Given the description of an element on the screen output the (x, y) to click on. 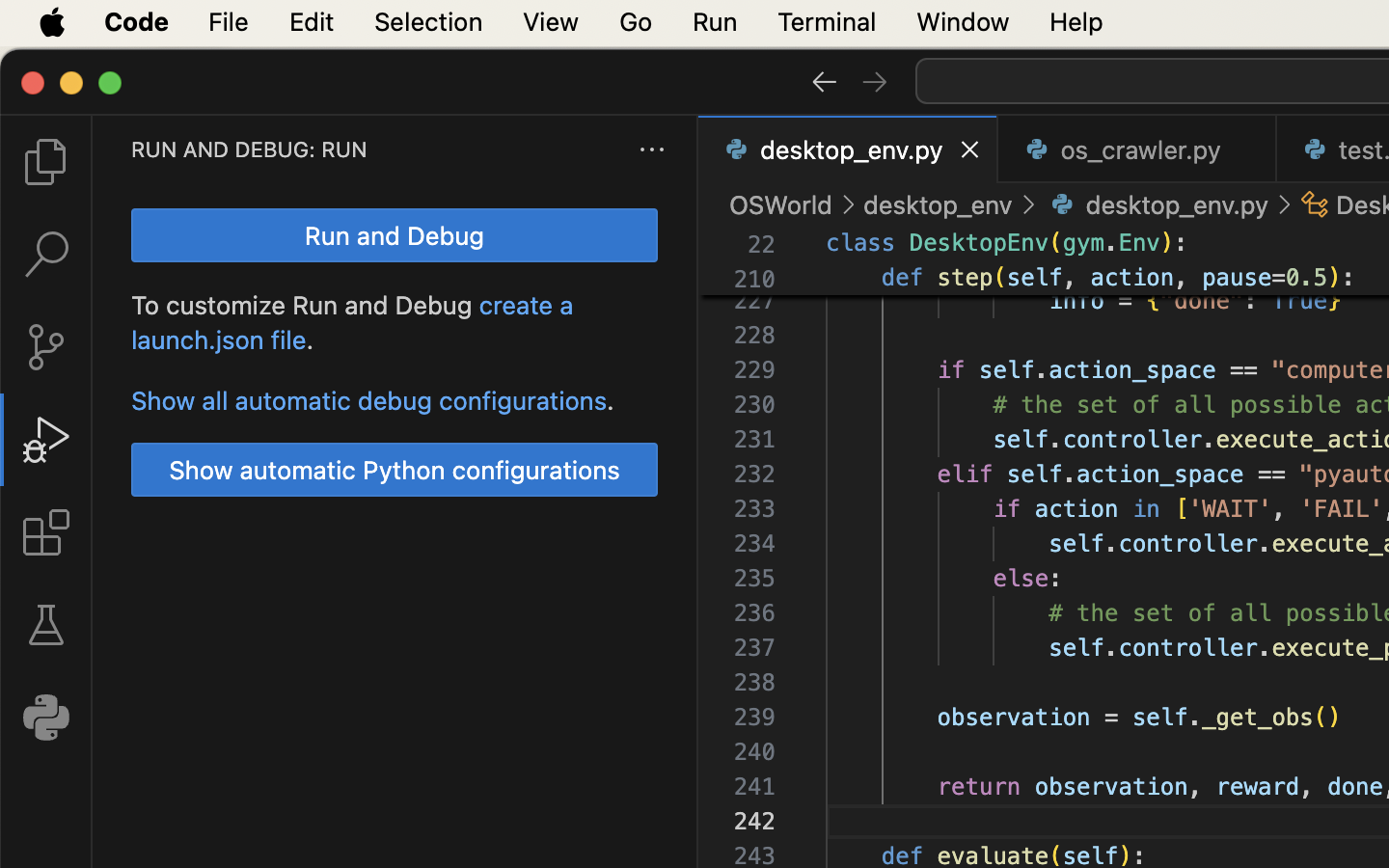
desktop_env Element type: AXGroup (938, 204)
step Element type: AXStaticText (965, 277)
0 Element type: AXRadioButton (46, 717)
0  Element type: AXRadioButton (46, 346)
0  Element type: AXRadioButton (46, 532)
